Given the description of an element on the screen output the (x, y) to click on. 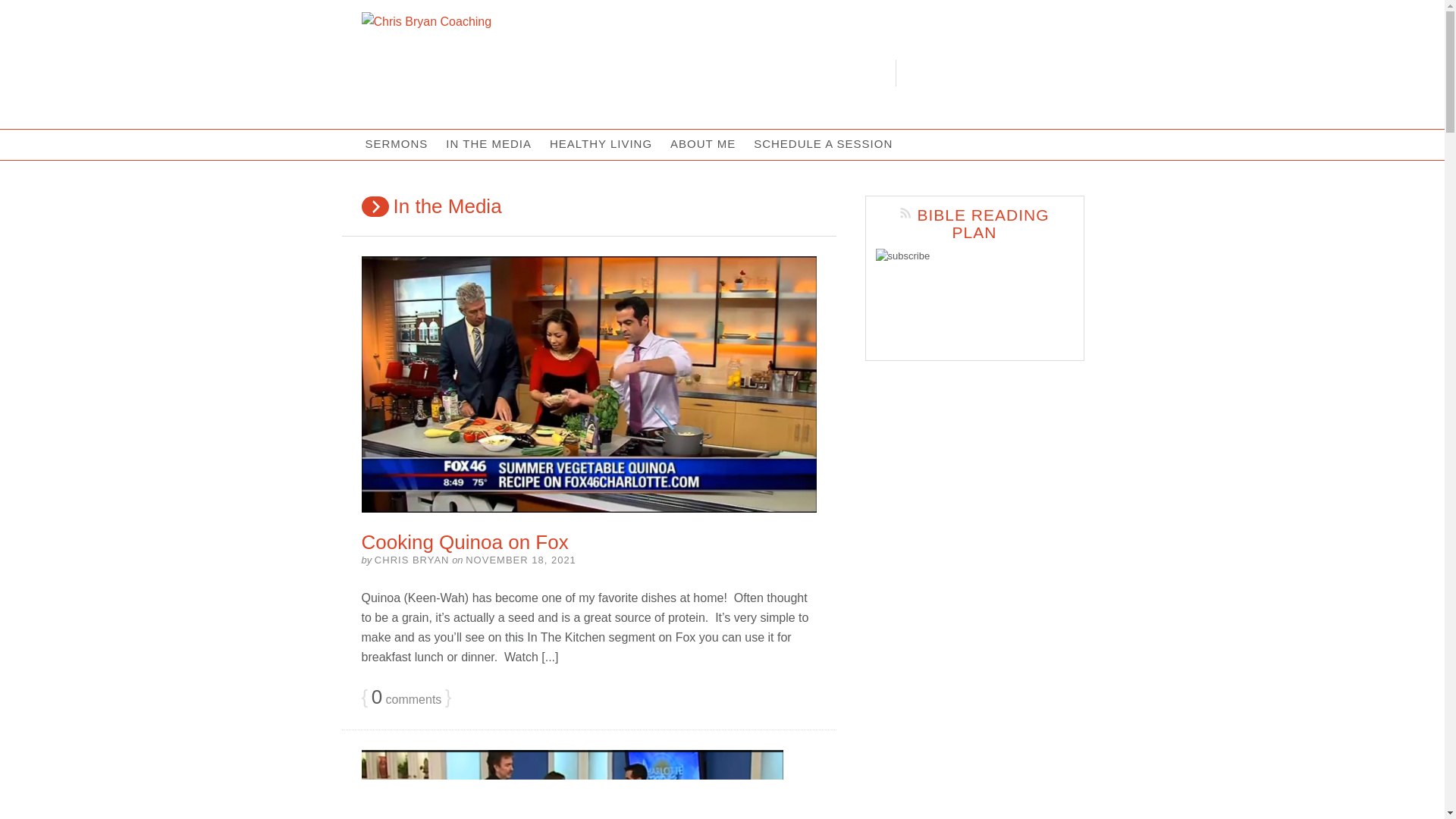
Cooking Quinoa on Fox (464, 541)
0 comments (406, 698)
2021-11-18 (520, 559)
IN THE MEDIA (488, 143)
SERMONS (397, 143)
ABOUT ME (702, 143)
HEALTHY LIVING (600, 143)
SCHEDULE A SESSION (822, 143)
